Given the description of an element on the screen output the (x, y) to click on. 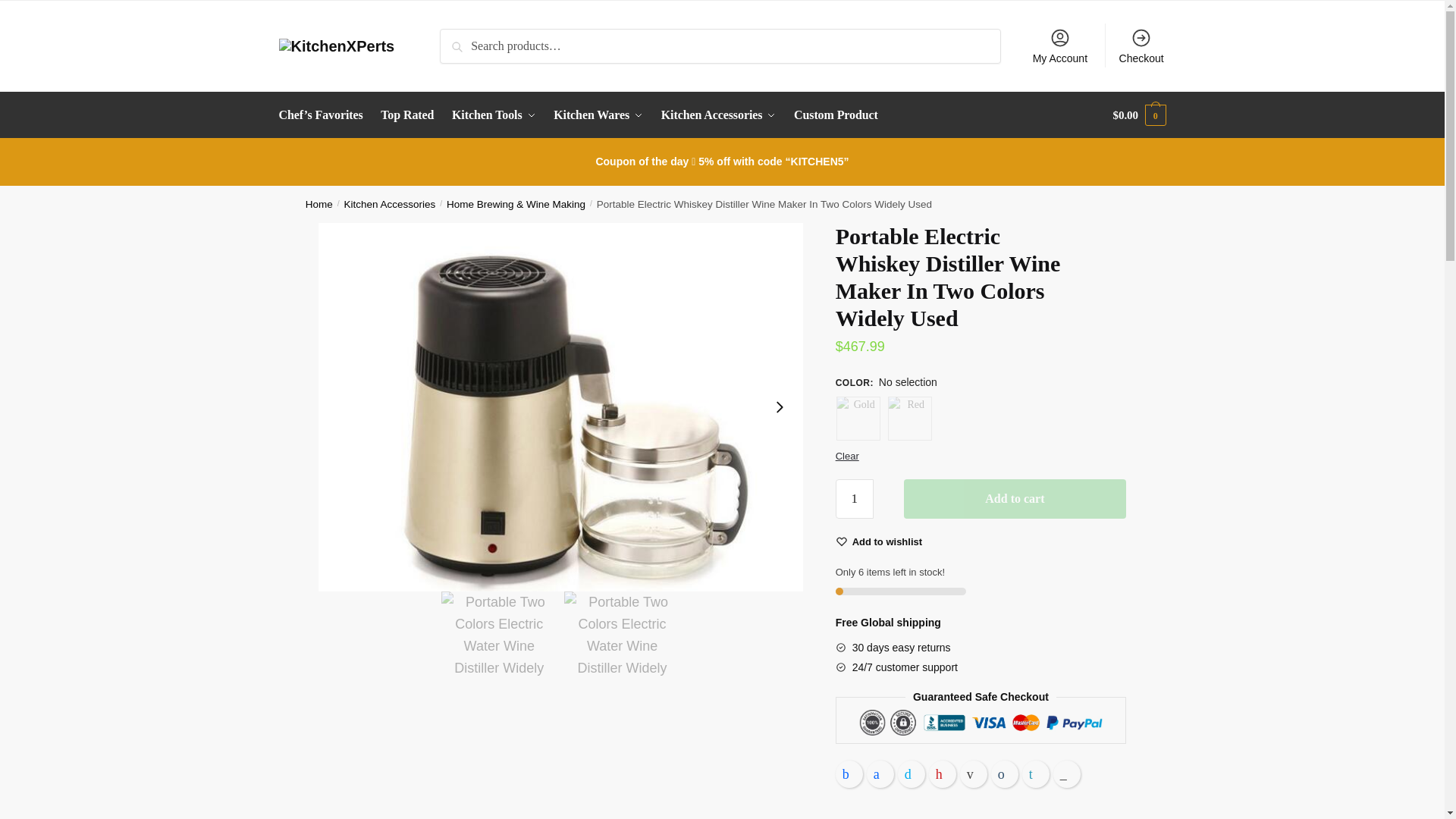
Top Rated (407, 115)
Kitchen Wares (598, 115)
Search (464, 41)
1 (854, 498)
Kitchen Tools (493, 115)
My Account (1059, 45)
View your shopping cart (1139, 115)
Kitchen Accessories (718, 115)
